Given the description of an element on the screen output the (x, y) to click on. 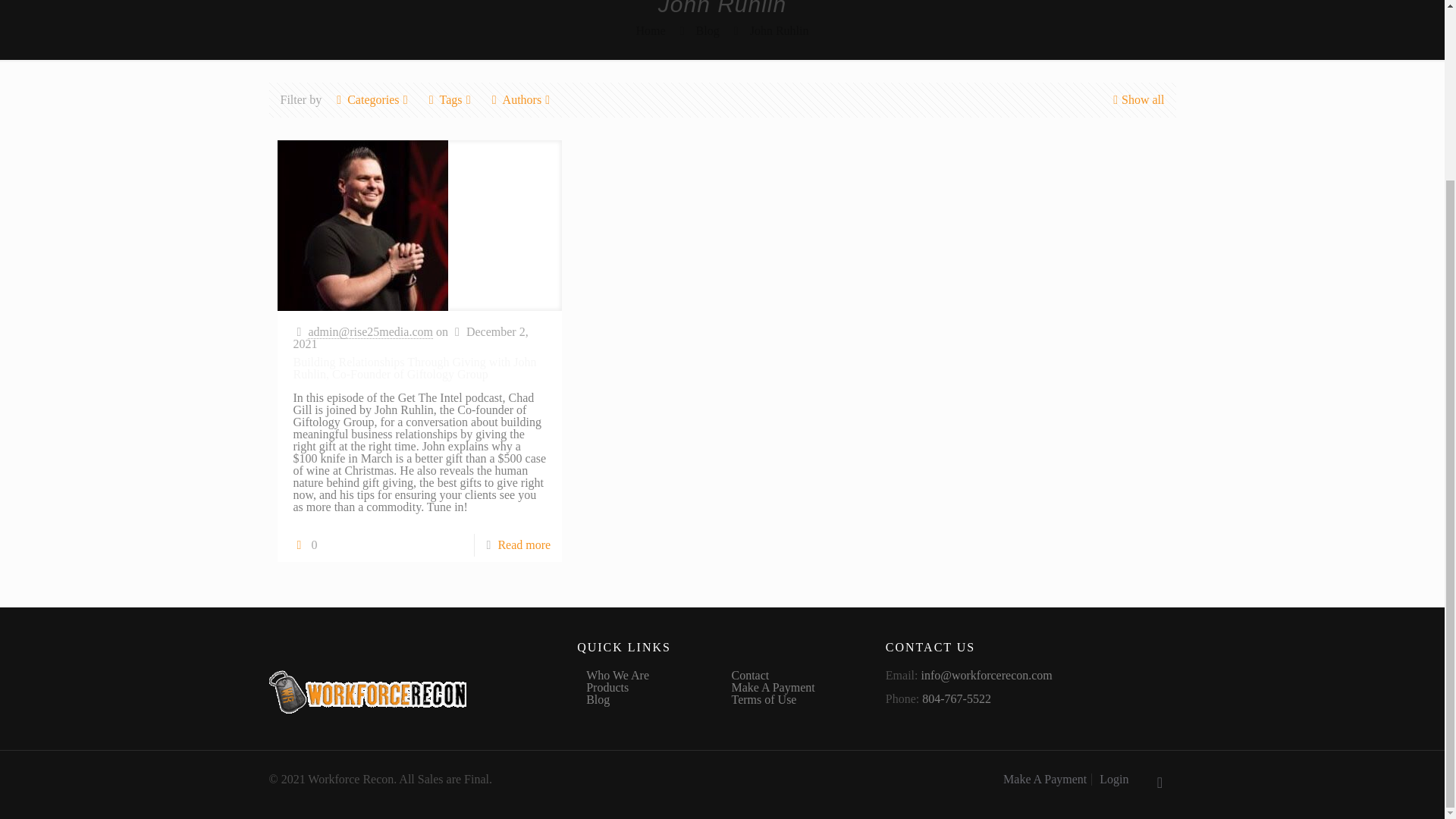
Show all (1136, 99)
Authors (521, 99)
Blog (707, 30)
Tags (451, 99)
Home (649, 30)
Categories (373, 99)
